Given the description of an element on the screen output the (x, y) to click on. 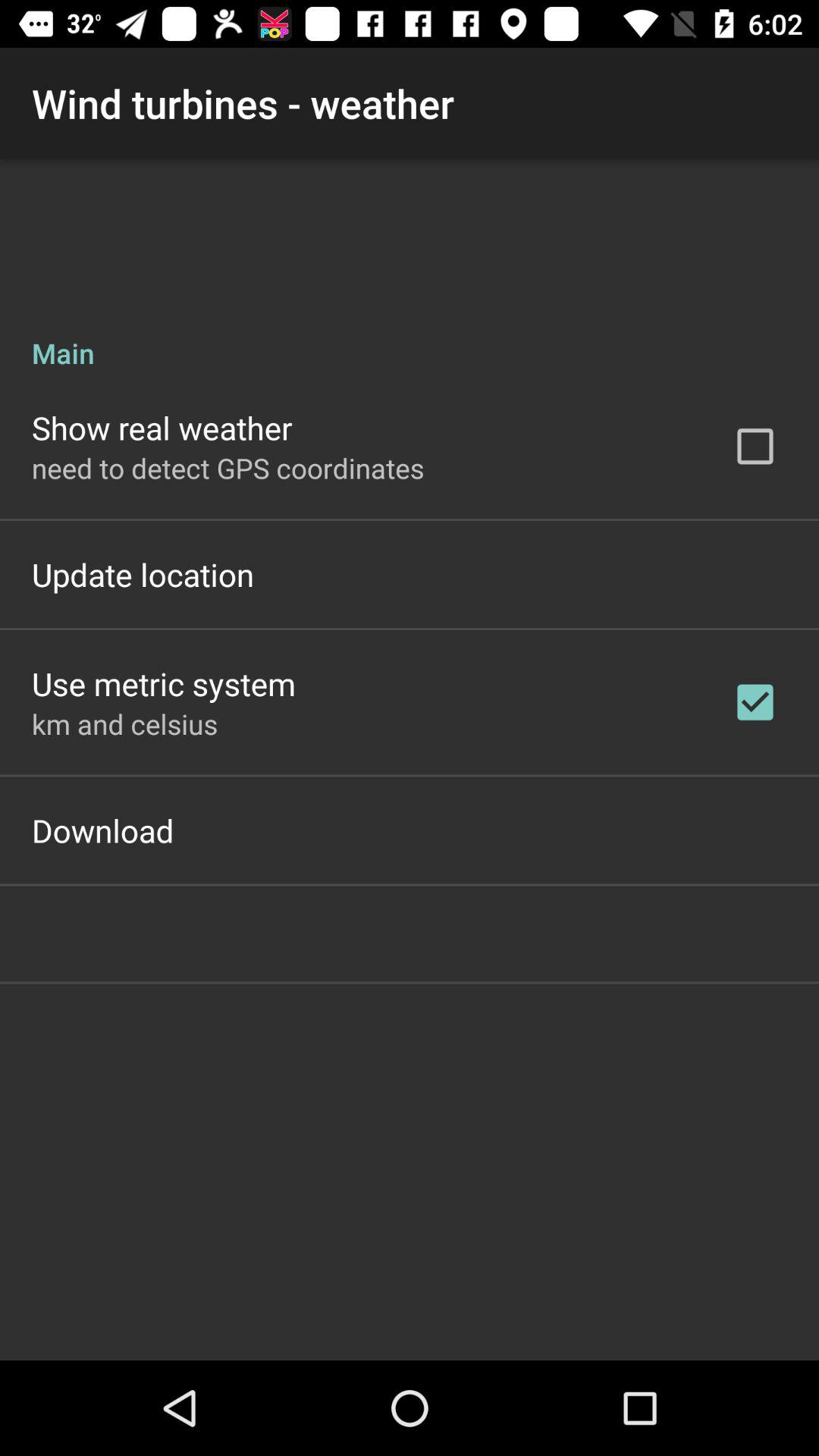
turn on the item below the update location (163, 683)
